Given the description of an element on the screen output the (x, y) to click on. 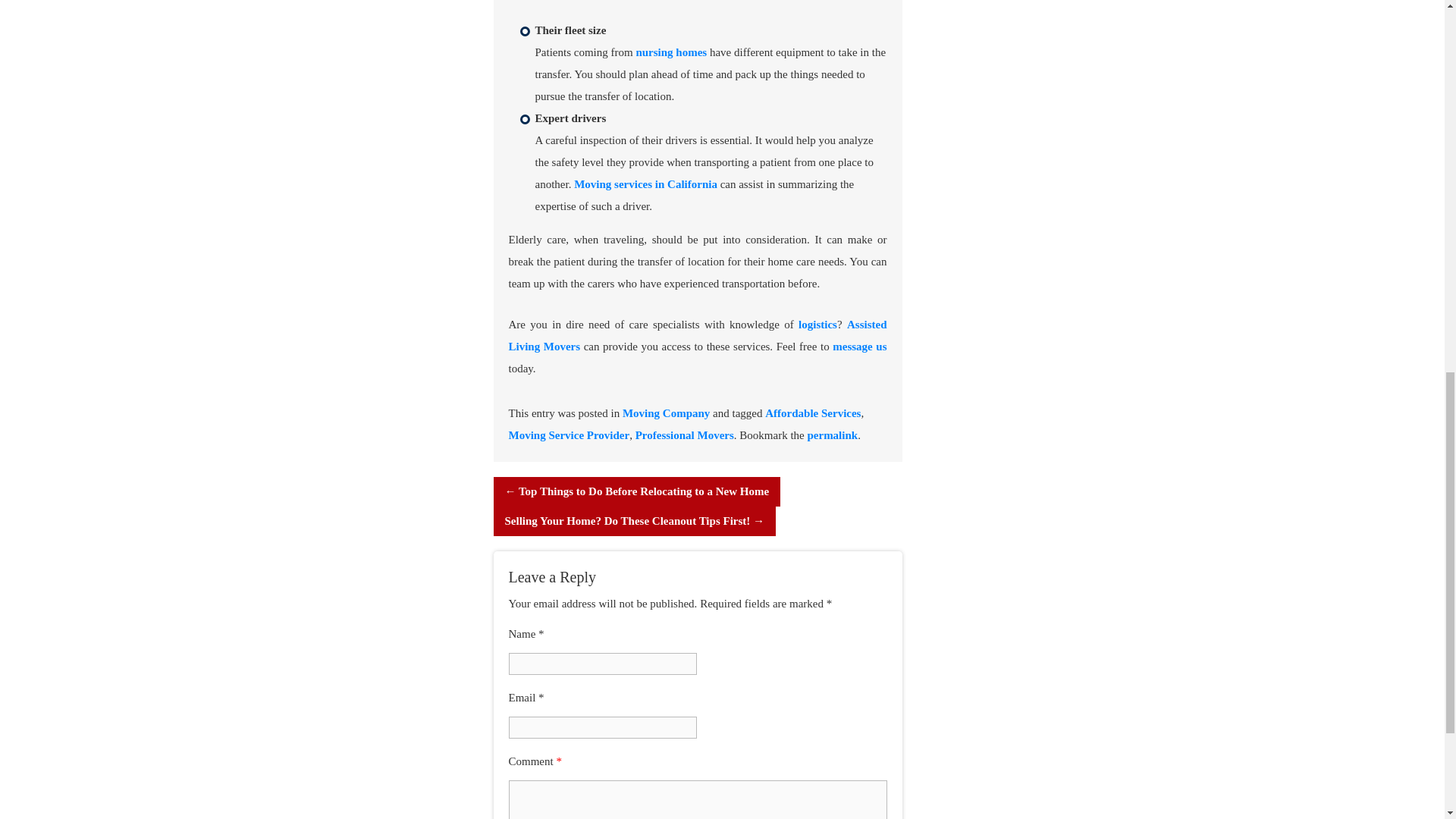
logistics (817, 324)
message us (859, 346)
Affordable Services (812, 413)
Moving Company (666, 413)
permalink (831, 435)
Moving Service Provider (568, 435)
nursing homes (670, 51)
Permalink to Tips for Finding a Qualified Moving Company (831, 435)
Professional Movers (683, 435)
Moving services in California (645, 184)
